Given the description of an element on the screen output the (x, y) to click on. 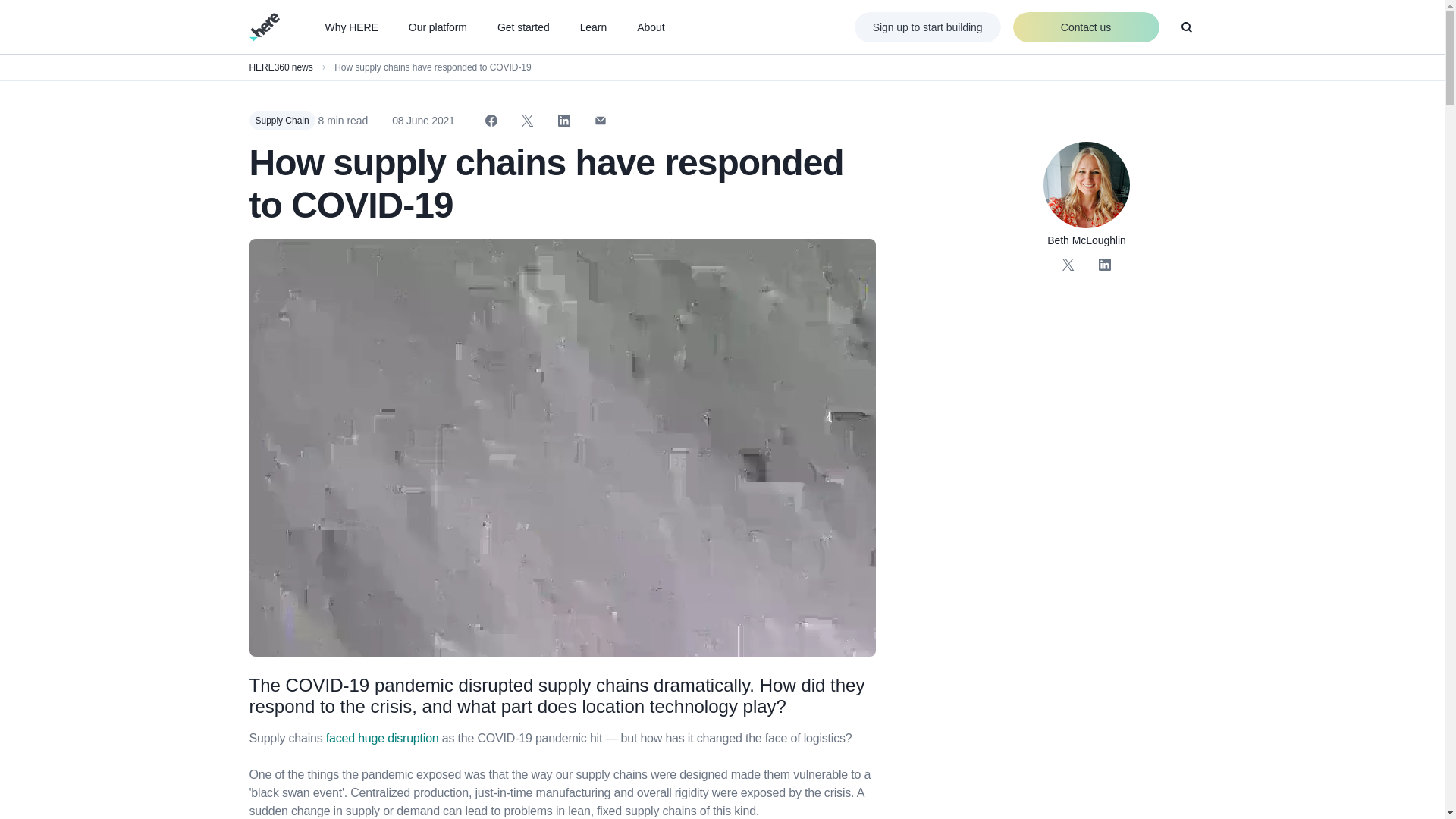
Why HERE (350, 27)
